Given the description of an element on the screen output the (x, y) to click on. 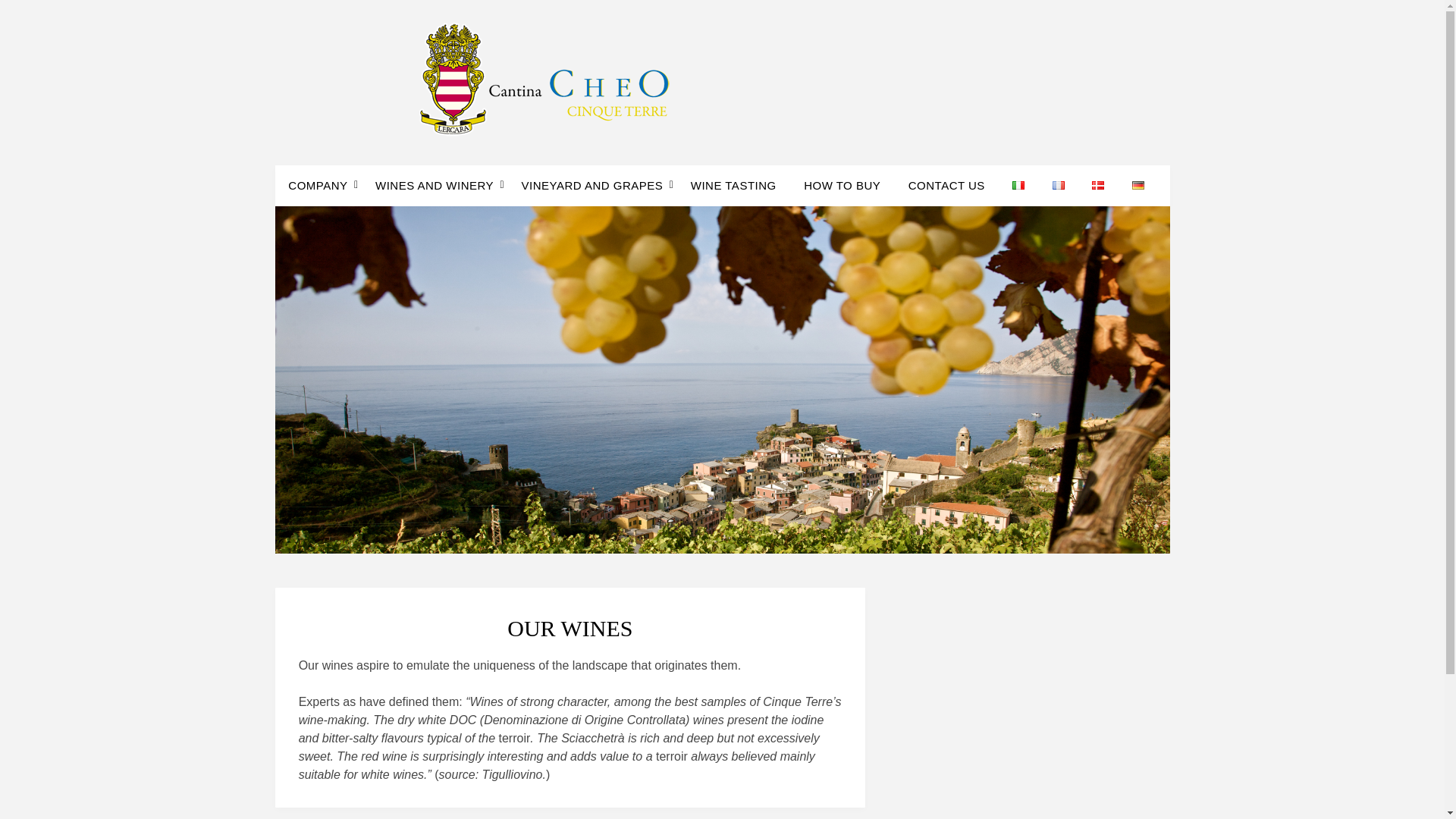
VINEYARD AND GRAPES (592, 185)
WINE TASTING (733, 185)
WINES AND WINERY (433, 185)
COMPANY (323, 185)
CONTACT US (946, 185)
HOW TO BUY (842, 185)
